Given the description of an element on the screen output the (x, y) to click on. 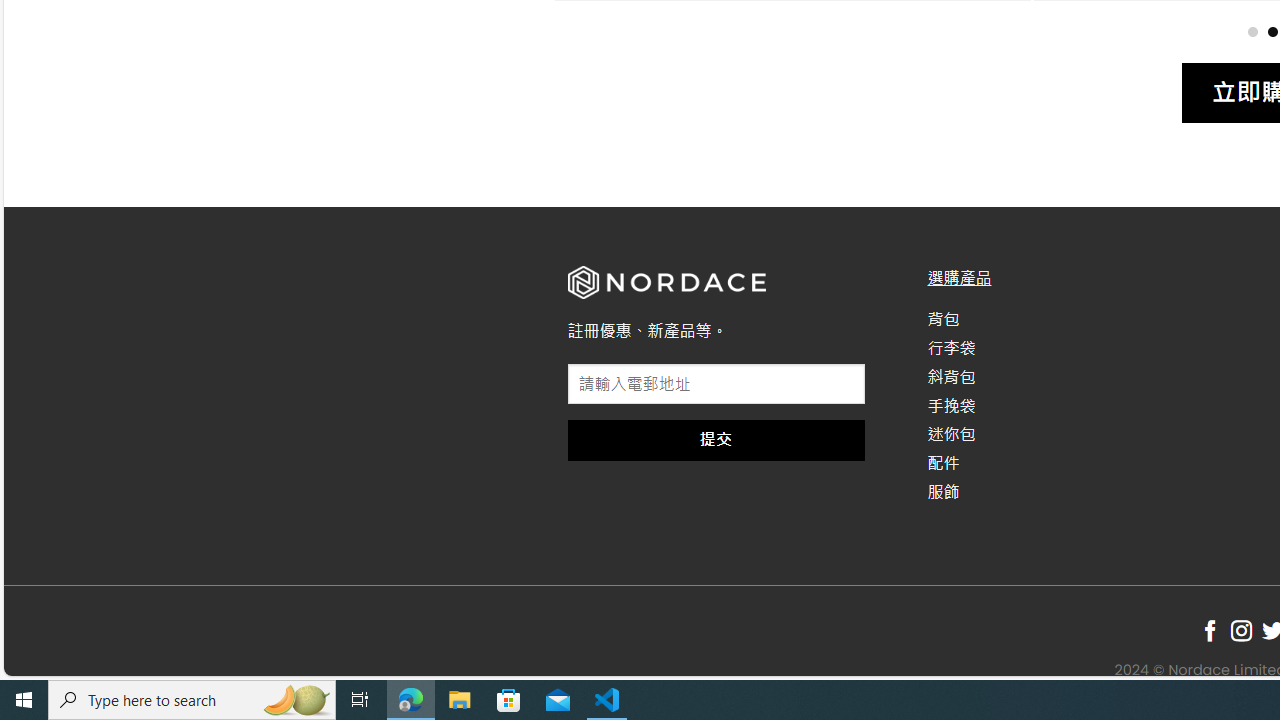
Page dot 2 (1272, 30)
Page dot 1 (1252, 30)
